Given the description of an element on the screen output the (x, y) to click on. 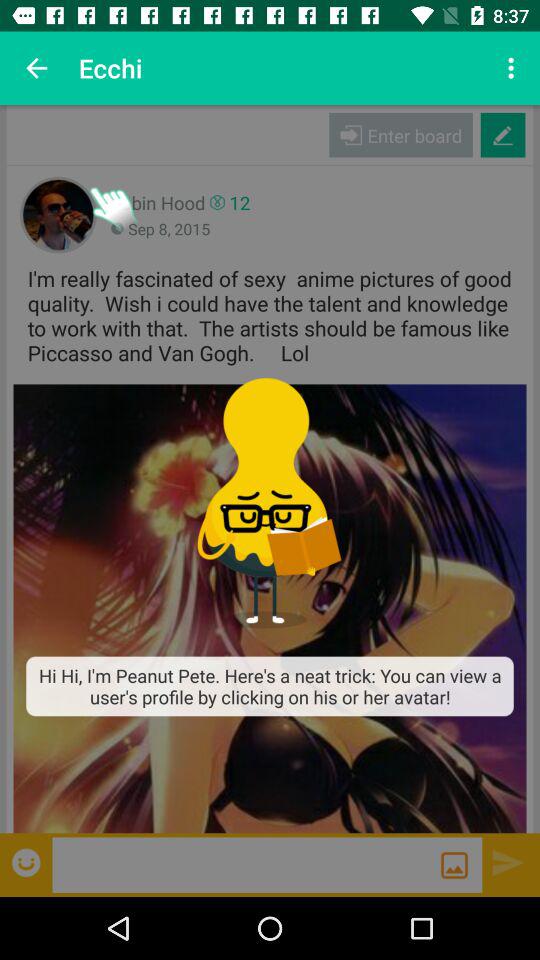
send (508, 862)
